Given the description of an element on the screen output the (x, y) to click on. 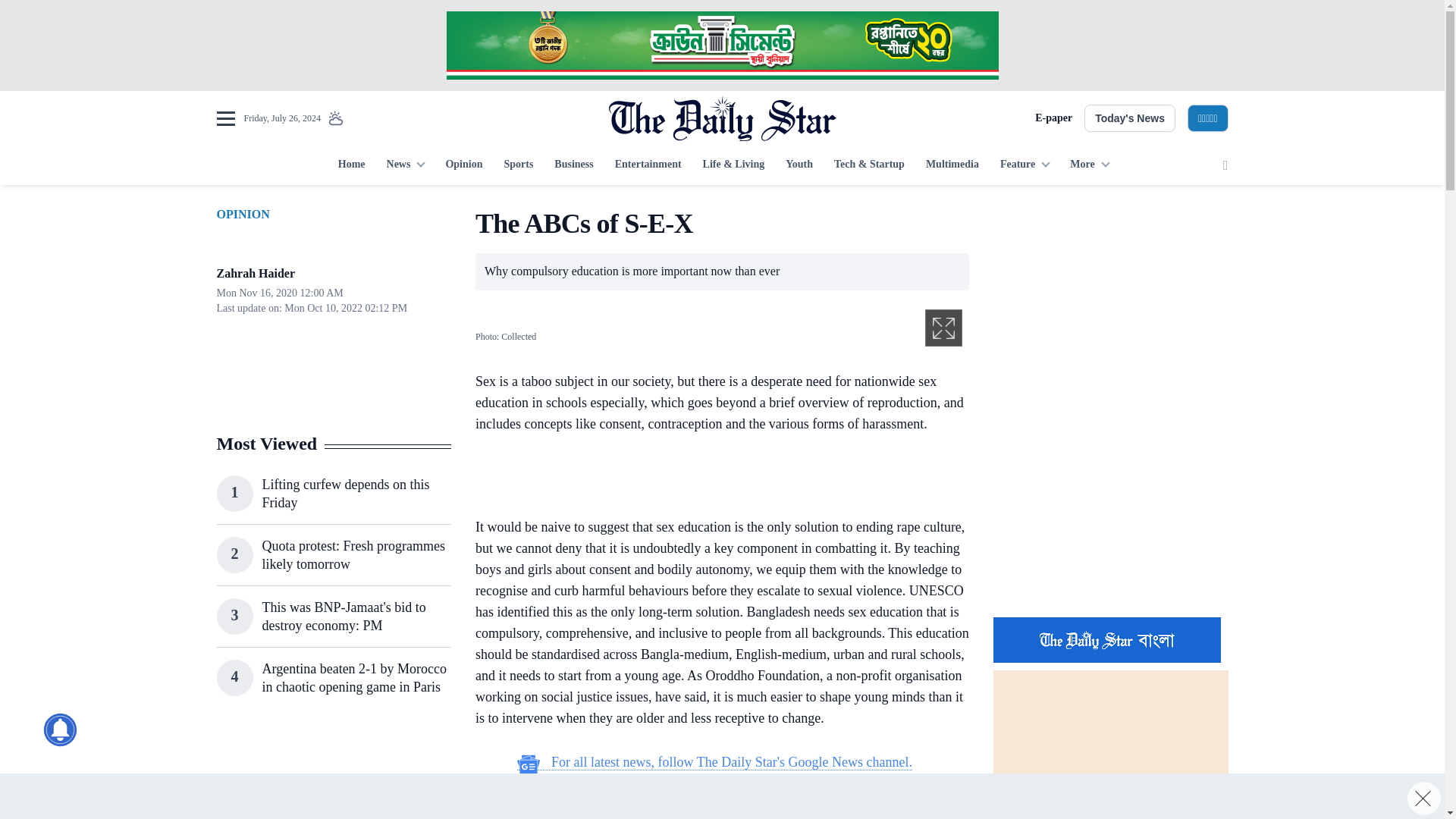
Sports (518, 165)
3rd party ad content (721, 796)
Feature (1024, 165)
3rd party ad content (332, 773)
Multimedia (952, 165)
3rd party ad content (1110, 506)
Youth (799, 165)
E-paper (1053, 117)
Entertainment (647, 165)
3rd party ad content (1110, 302)
3rd party ad content (714, 478)
Opinion (463, 165)
Today's News (1129, 117)
3rd party ad content (721, 45)
